Given the description of an element on the screen output the (x, y) to click on. 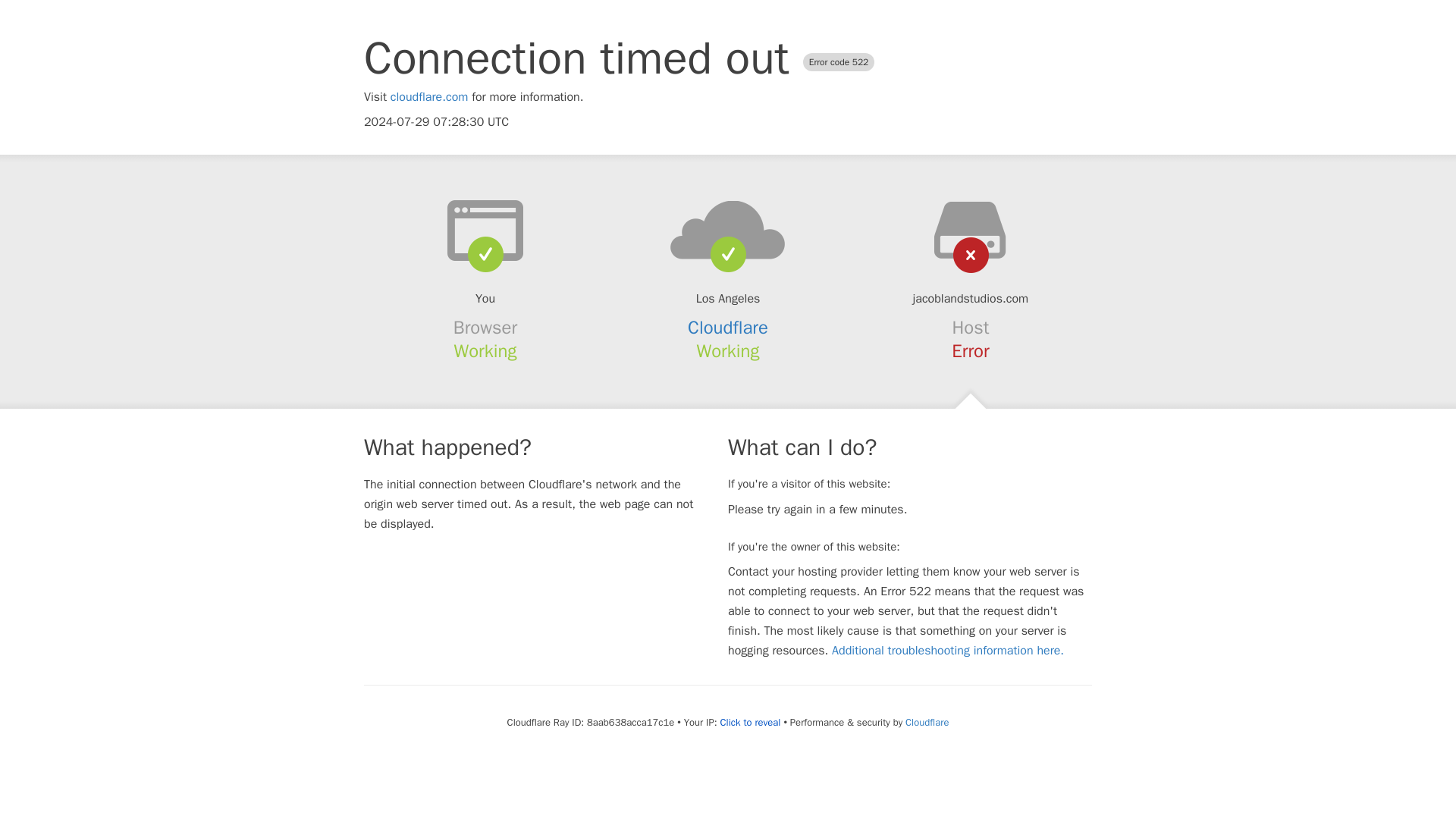
cloudflare.com (429, 96)
Cloudflare (927, 721)
Additional troubleshooting information here. (947, 650)
Click to reveal (750, 722)
Cloudflare (727, 327)
